Given the description of an element on the screen output the (x, y) to click on. 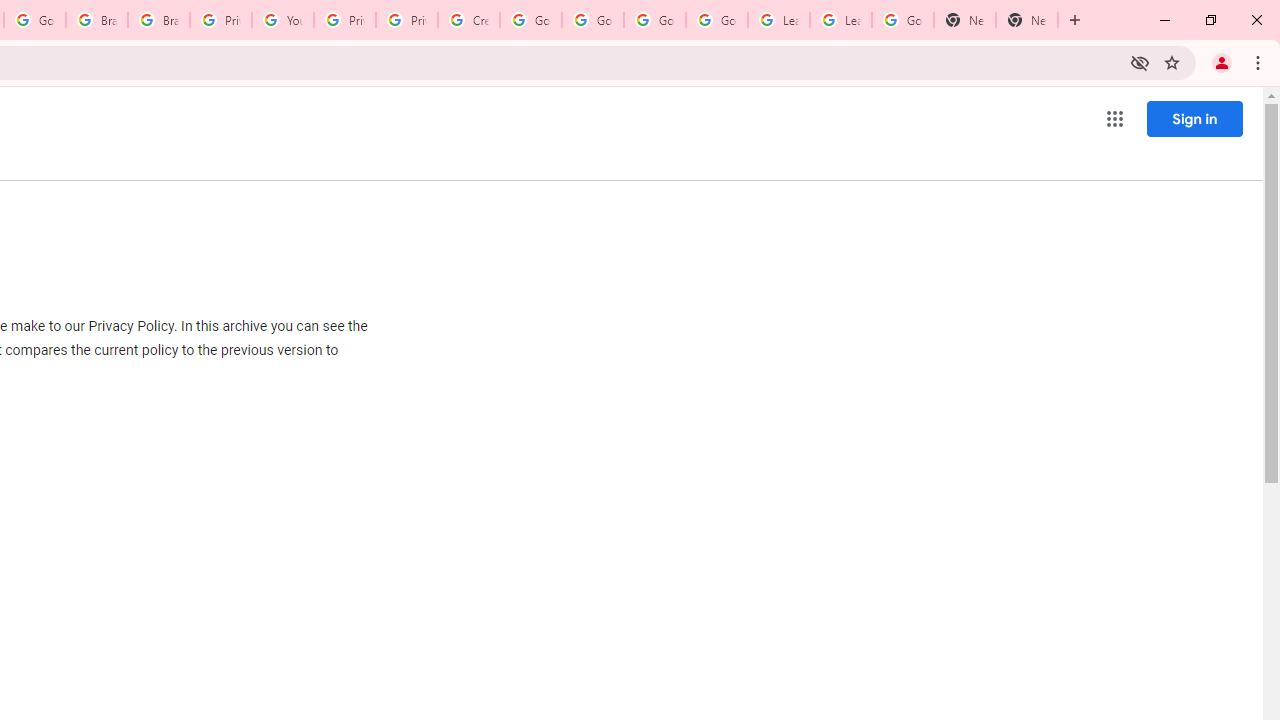
Google Account Help (654, 20)
Brand Resource Center (158, 20)
Google Account Help (716, 20)
